Given the description of an element on the screen output the (x, y) to click on. 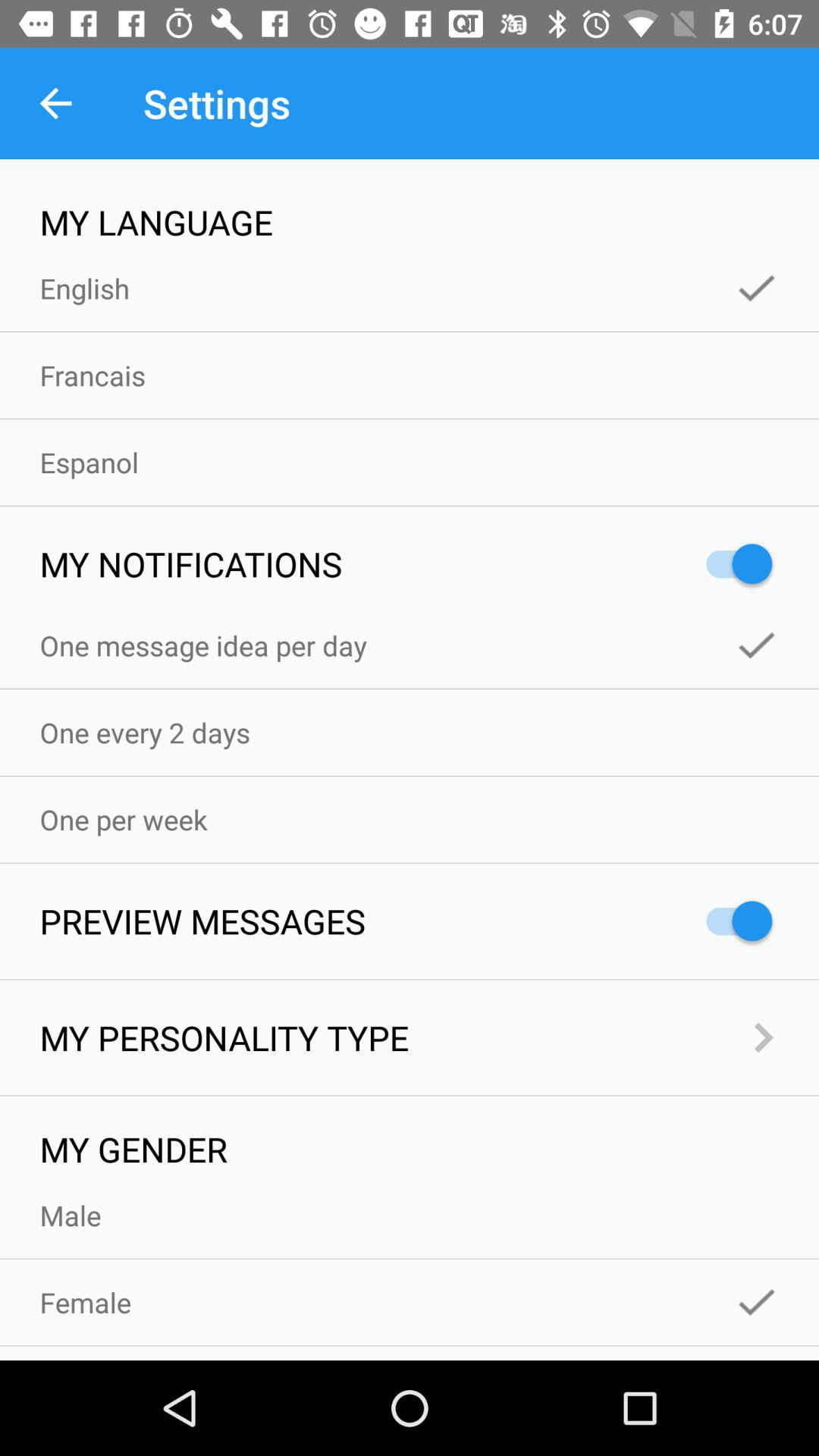
tap the item to the right of the preview messages icon (731, 921)
